Given the description of an element on the screen output the (x, y) to click on. 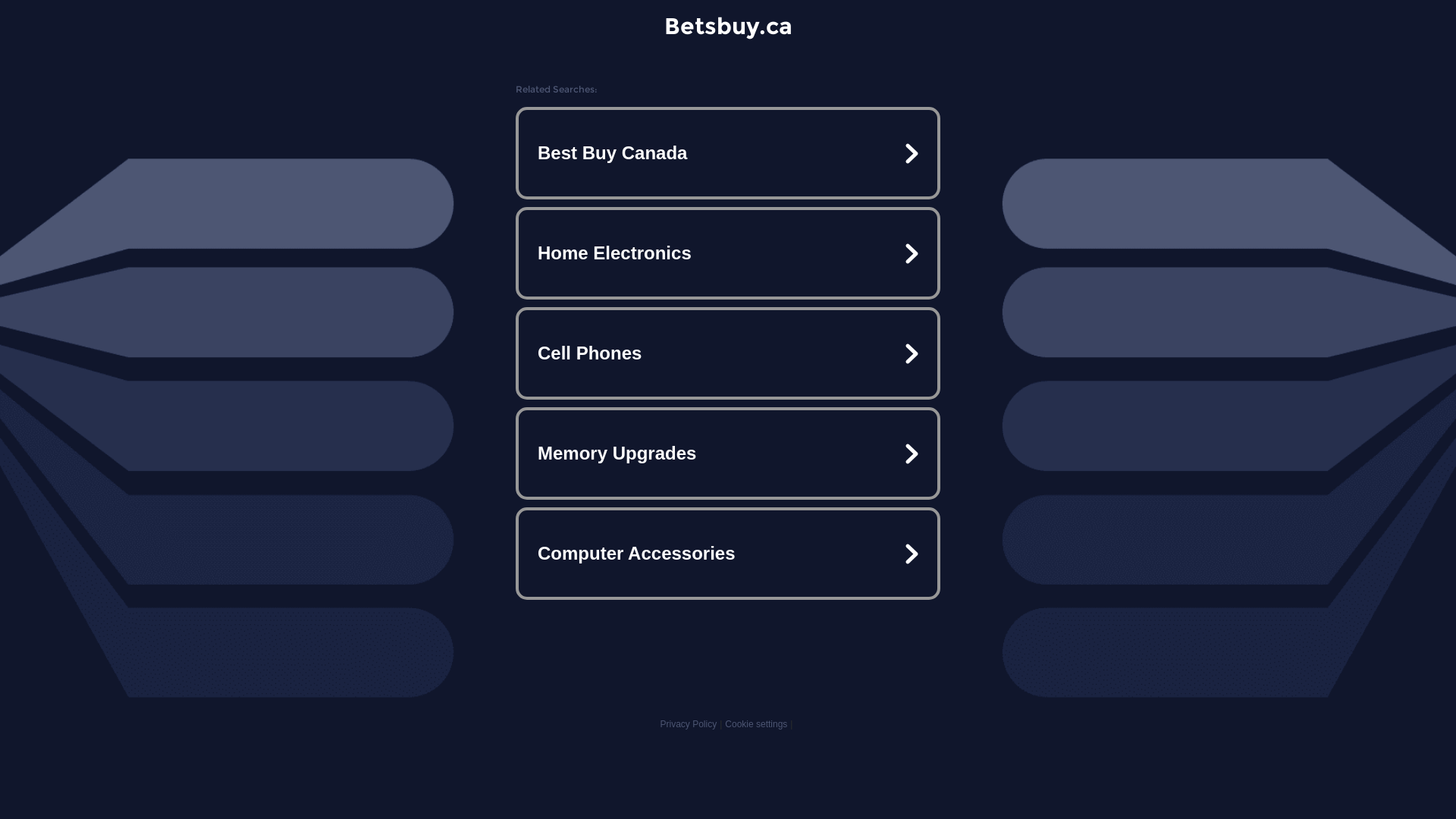
Best Buy Canada Element type: text (727, 152)
Privacy Policy Element type: text (687, 723)
Cell Phones Element type: text (727, 353)
Cookie settings Element type: text (755, 723)
Memory Upgrades Element type: text (727, 453)
Computer Accessories Element type: text (727, 553)
Home Electronics Element type: text (727, 253)
Betsbuy.ca Element type: text (728, 26)
